Given the description of an element on the screen output the (x, y) to click on. 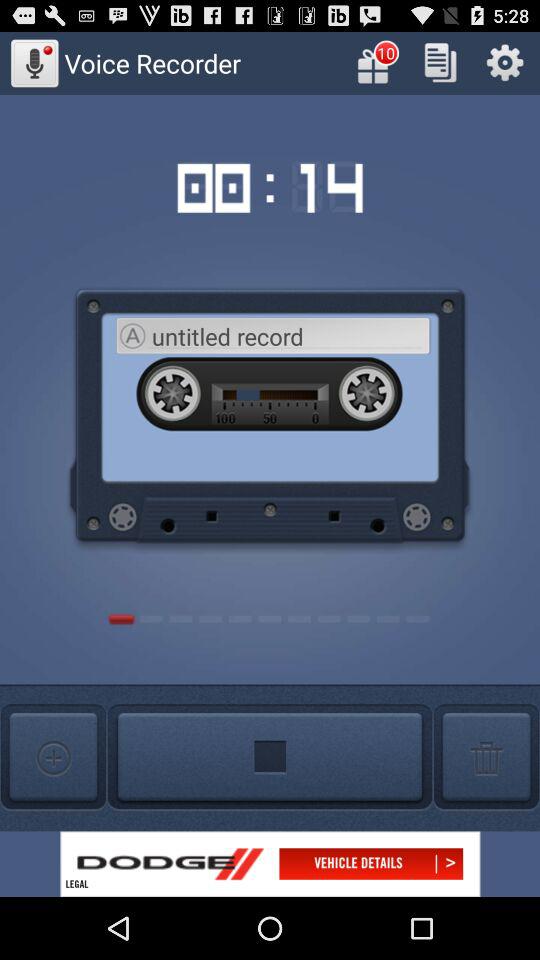
delete button (486, 757)
